Given the description of an element on the screen output the (x, y) to click on. 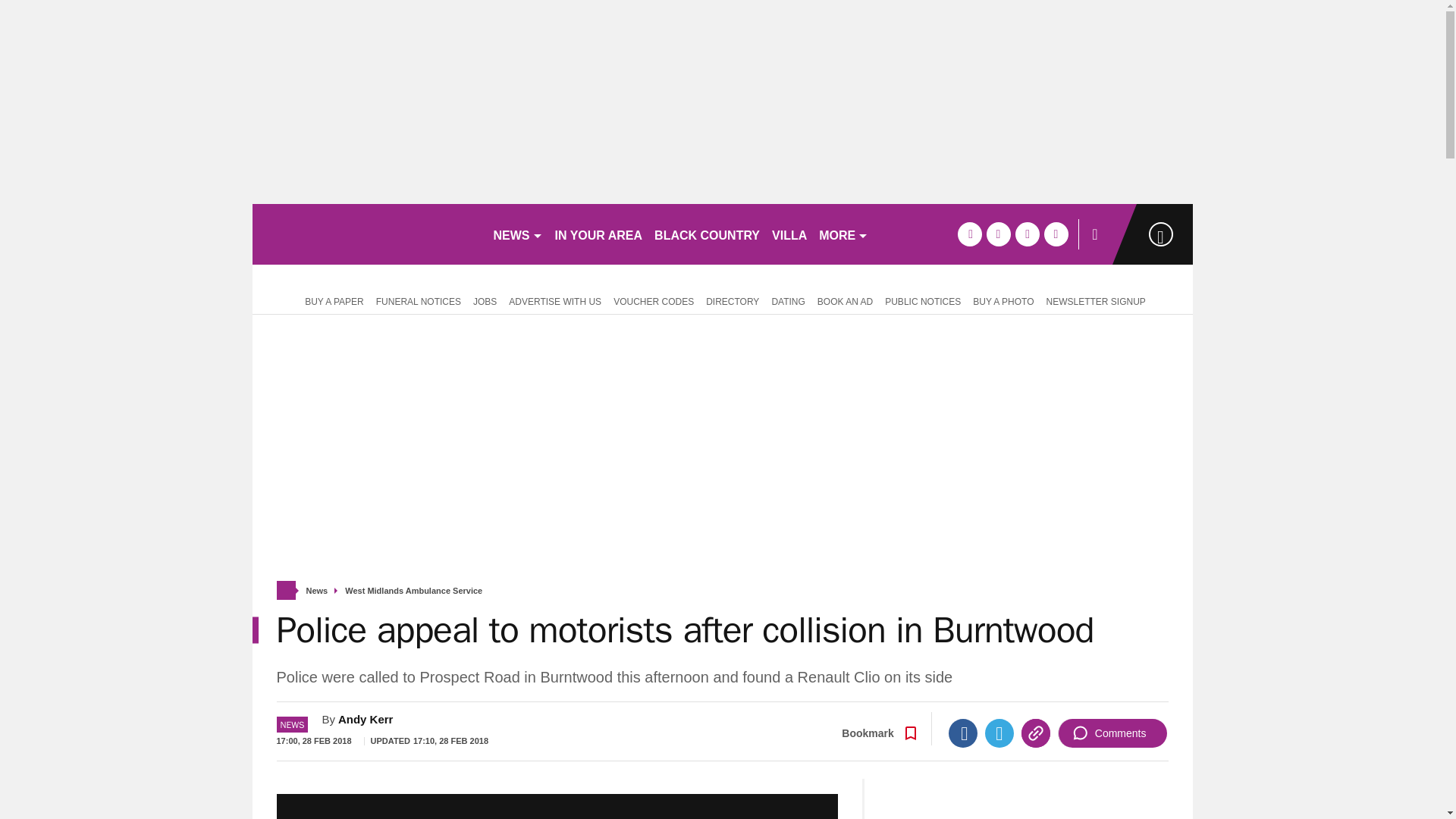
twitter (997, 233)
Facebook (962, 733)
facebook (968, 233)
NEWS (517, 233)
birminghammail (365, 233)
instagram (1055, 233)
BLACK COUNTRY (706, 233)
tiktok (1026, 233)
Twitter (999, 733)
Comments (1112, 733)
